Given the description of an element on the screen output the (x, y) to click on. 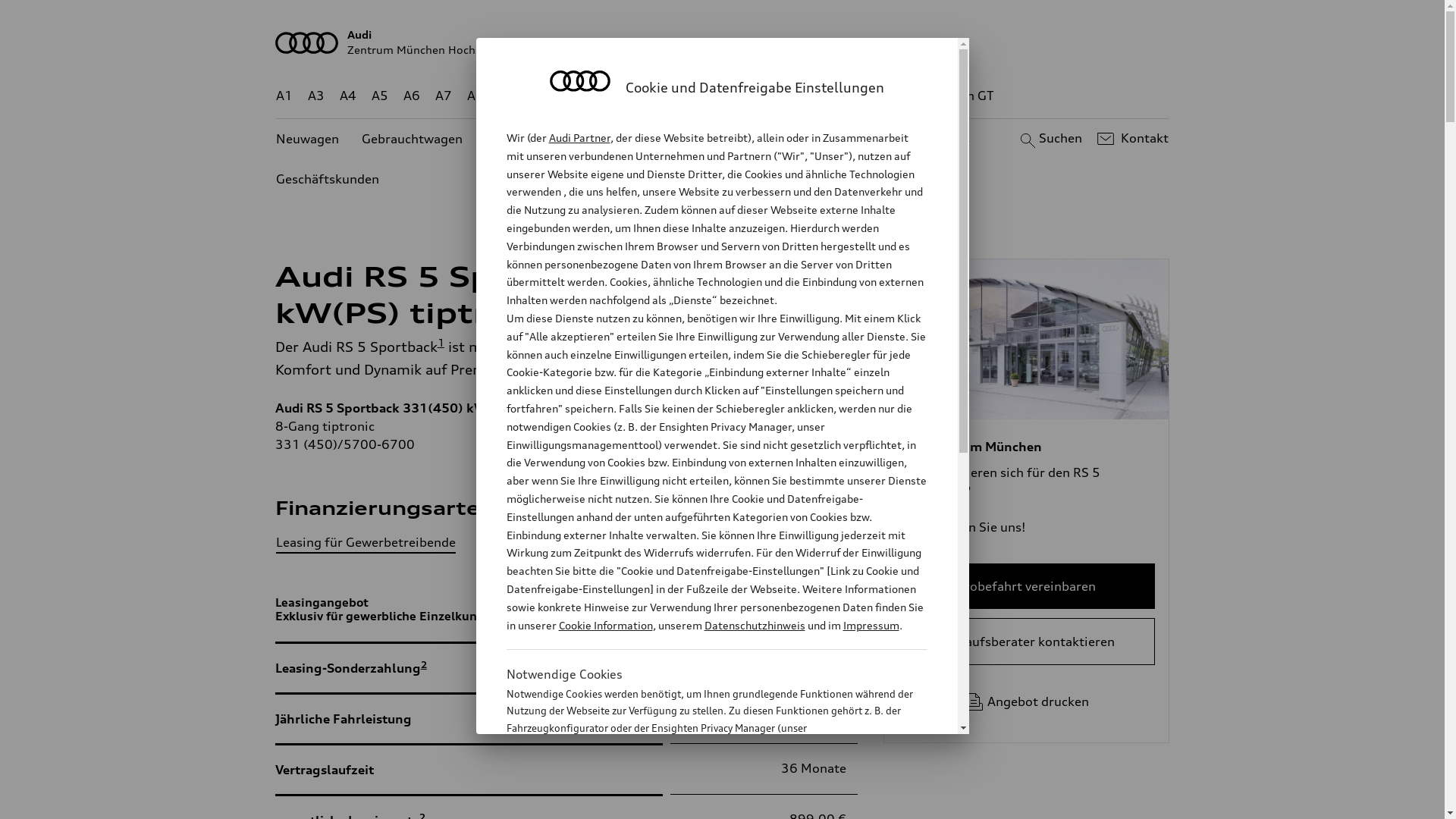
A3 Element type: text (315, 95)
Q7 Element type: text (678, 95)
1 Element type: text (961, 486)
Datenschutzhinweis Element type: text (753, 624)
Neuwagen Element type: text (307, 139)
A6 Element type: text (411, 95)
A7 Element type: text (443, 95)
RS Element type: text (861, 95)
Kontakt Element type: text (1130, 138)
A8 Element type: text (475, 95)
Gebrauchtwagen Element type: text (411, 139)
Suchen Element type: text (1049, 138)
Verkaufsberater kontaktieren Element type: text (1025, 641)
Q2 Element type: text (507, 95)
A4 Element type: text (347, 95)
A5 Element type: text (379, 95)
Angebot drucken Element type: text (1026, 701)
Cookie Information Element type: text (605, 624)
Audi Partner Element type: text (579, 137)
Impressum Element type: text (871, 624)
e-tron GT Element type: text (965, 95)
Q8 Element type: text (710, 95)
2 Element type: text (423, 664)
Q4 e-tron Element type: text (592, 95)
1 Element type: text (440, 342)
Cookie Information Element type: text (700, 802)
Q5 Element type: text (645, 95)
Probefahrt vereinbaren Element type: text (1025, 585)
TT Element type: text (814, 95)
Audi on demand Element type: text (735, 139)
Angebote Element type: text (636, 139)
Kundenservice Element type: text (850, 139)
Q3 Element type: text (540, 95)
g-tron Element type: text (903, 95)
2 Element type: text (500, 614)
A1 Element type: text (284, 95)
Q8 e-tron Element type: text (763, 95)
